Given the description of an element on the screen output the (x, y) to click on. 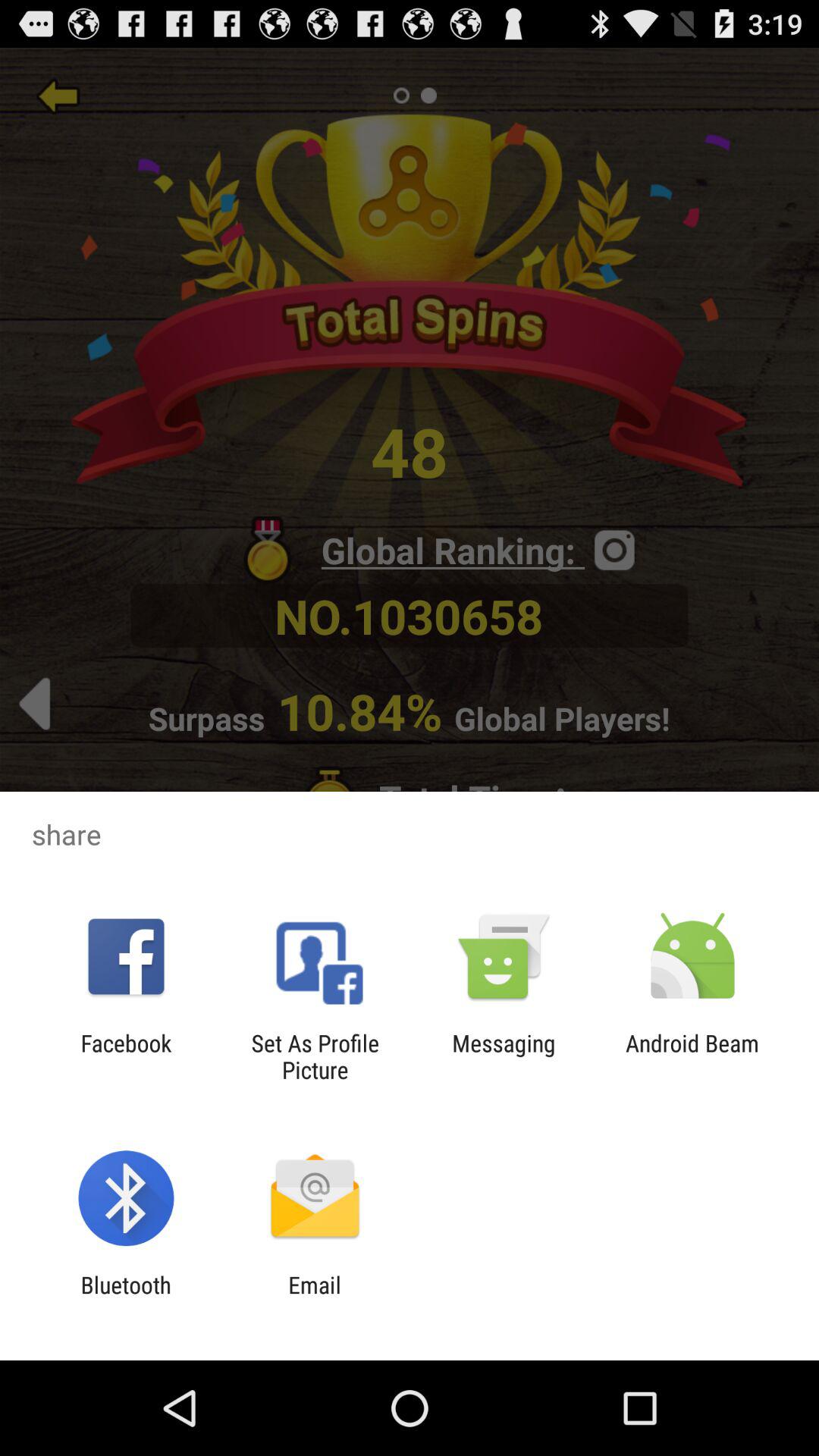
tap email item (314, 1298)
